Given the description of an element on the screen output the (x, y) to click on. 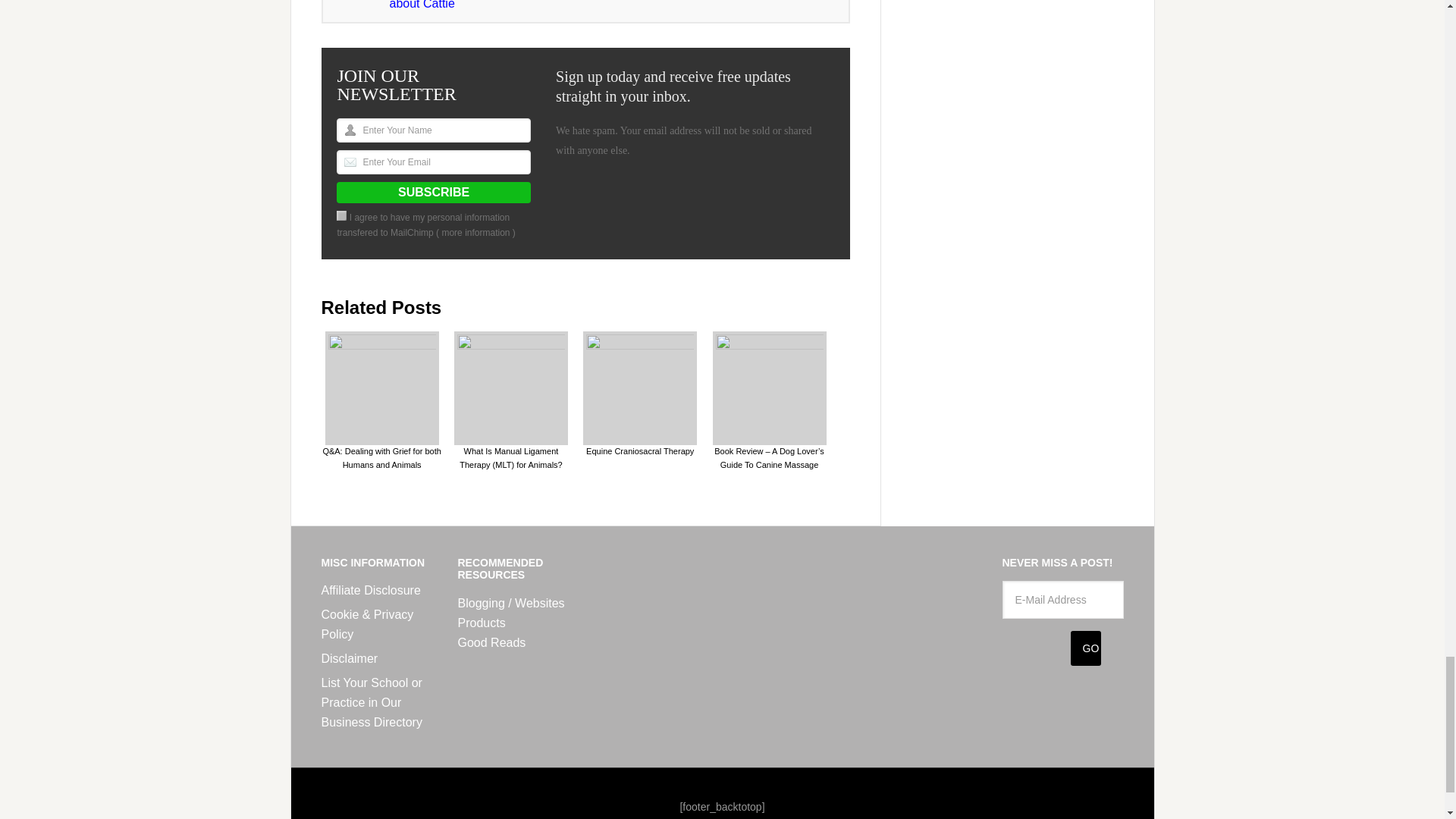
Permanent Link toEquine Craniosacral Therapy (639, 393)
SUBSCRIBE (433, 192)
on (341, 215)
